Given the description of an element on the screen output the (x, y) to click on. 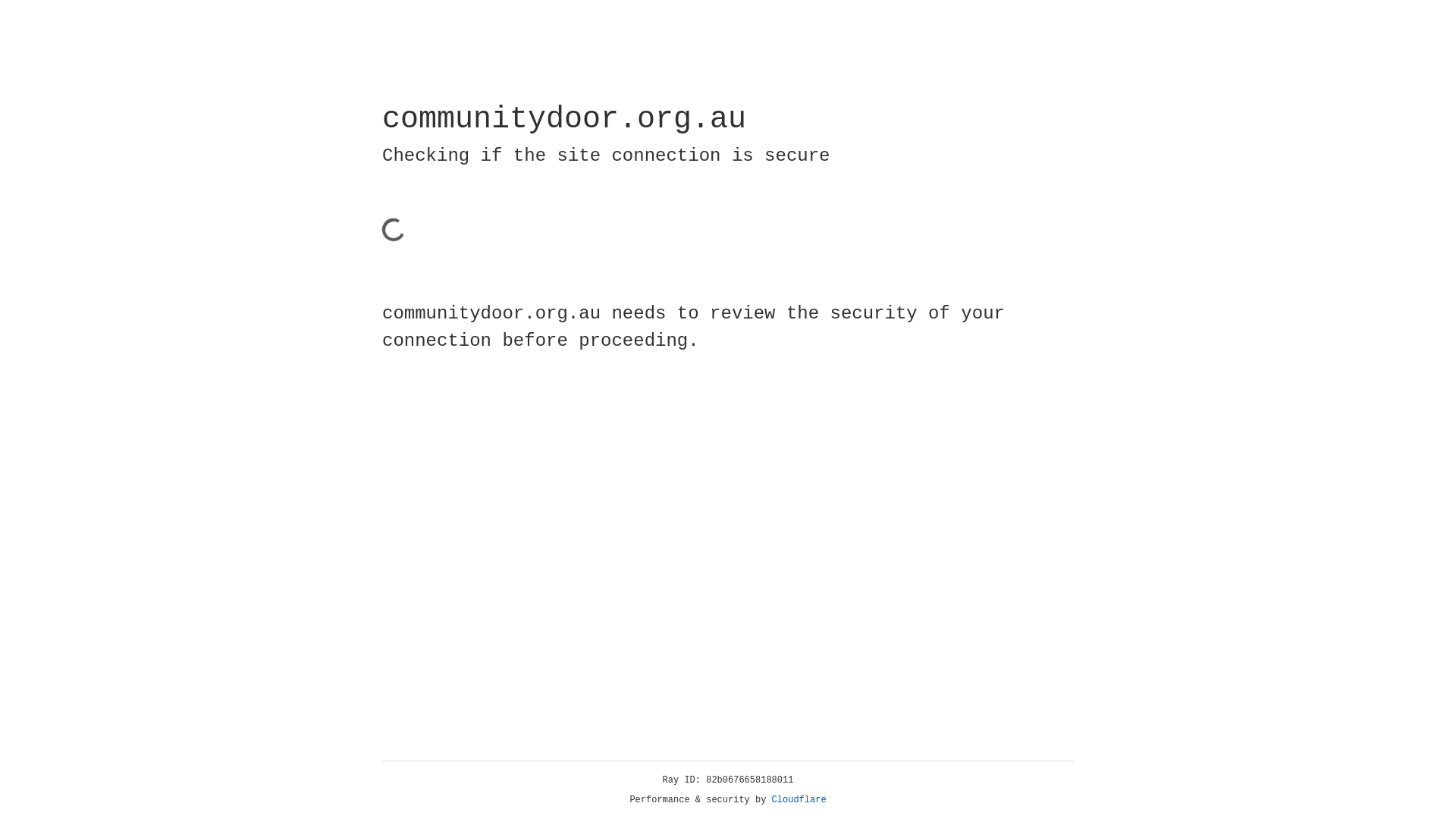
Cloudflare Element type: text (798, 799)
